Given the description of an element on the screen output the (x, y) to click on. 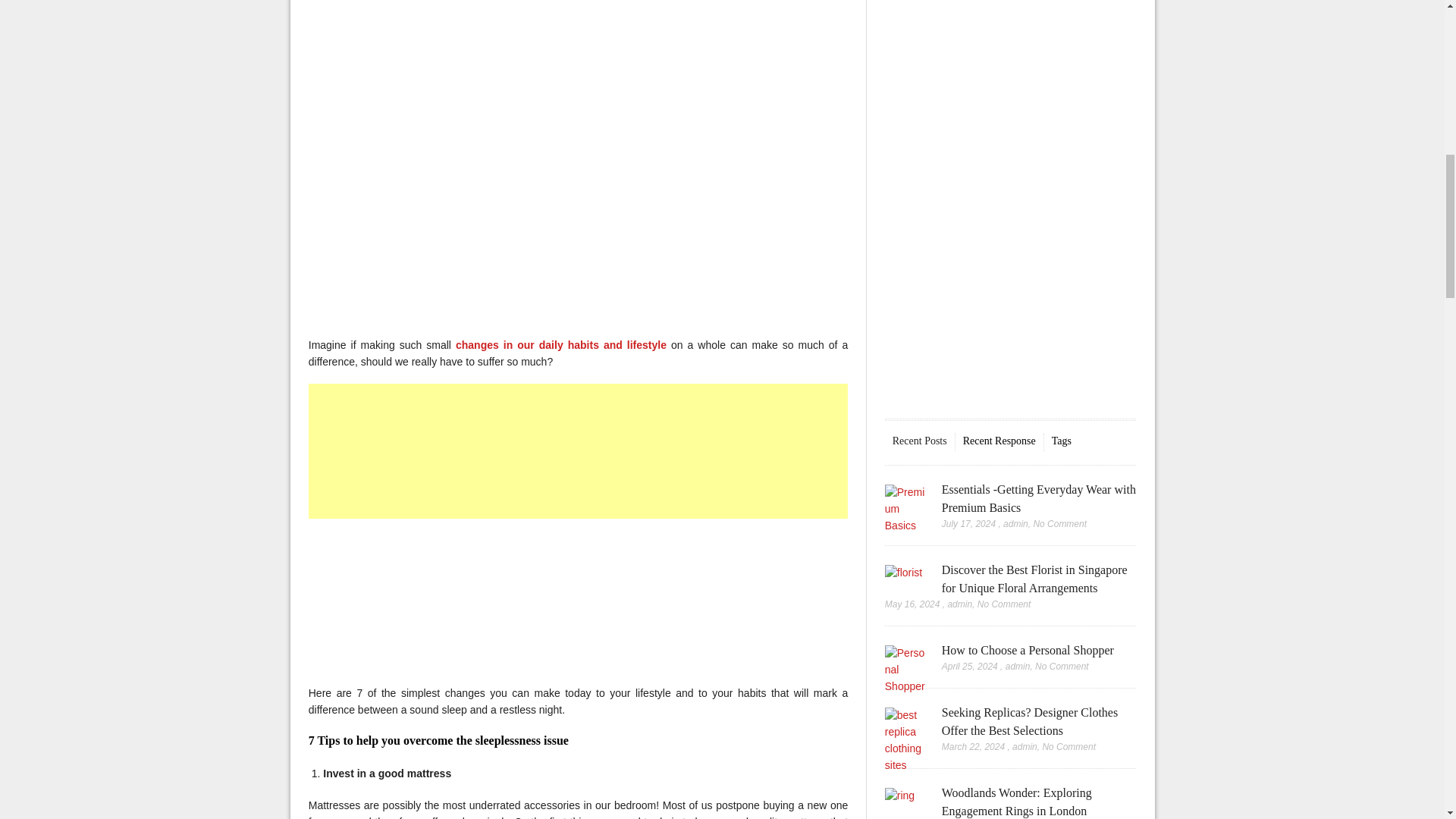
changes in our daily habits and lifestyle (560, 345)
Recent Posts (919, 440)
Essentials -Getting Everyday Wear with Premium Basics (1038, 498)
